Given the description of an element on the screen output the (x, y) to click on. 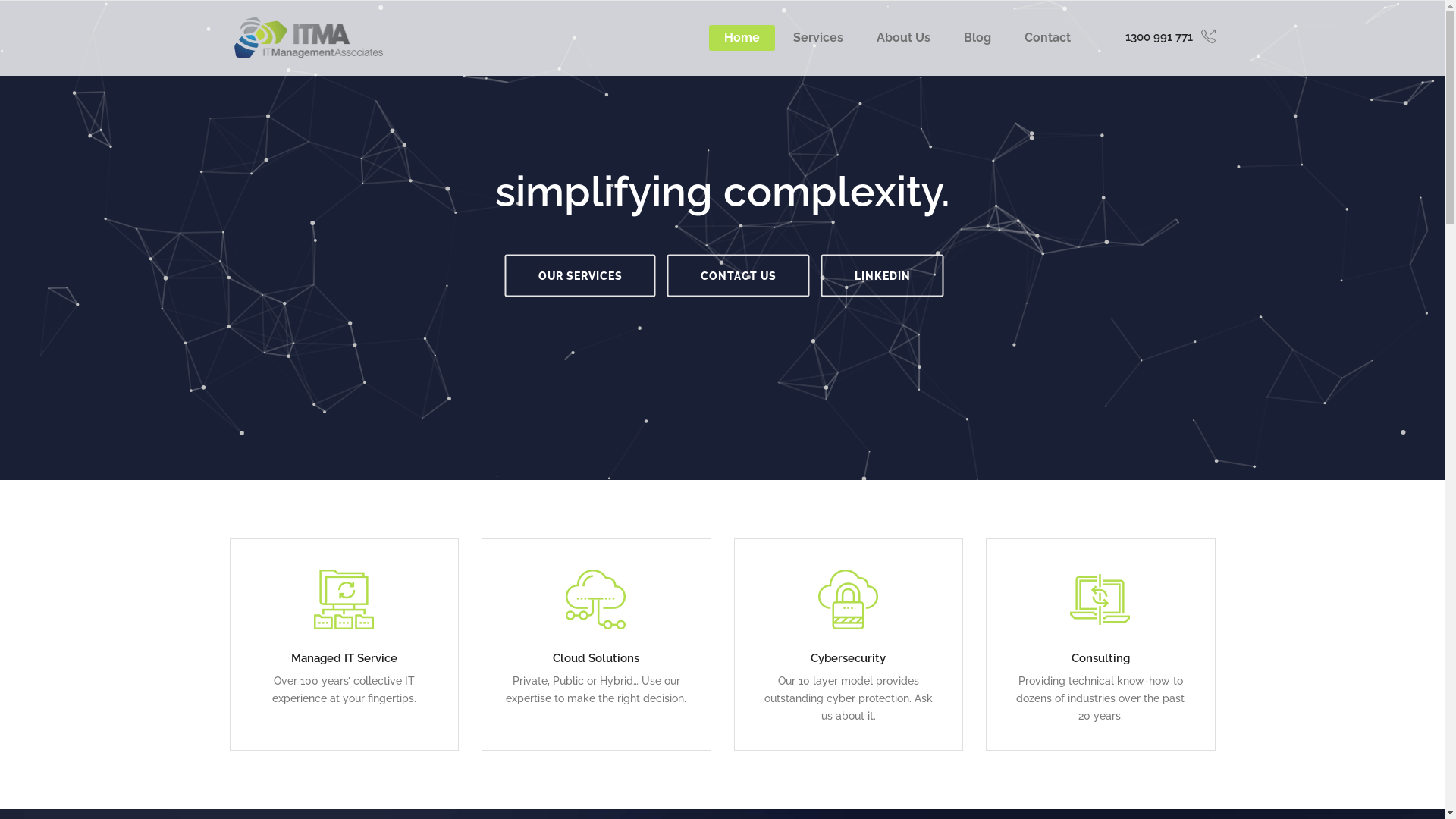
LINKEDIN Element type: text (881, 275)
Brightgauge Dashboard of the Month Element type: text (721, 537)
Unit 5, 28 Belmont Avenue Belmont, WA 6104 Element type: text (256, 555)
YikesDesign.Co Element type: text (822, 787)
Contact Element type: text (1046, 37)
Services Element type: text (818, 37)
Home Element type: text (741, 37)
READ MORE Element type: text (1100, 644)
info@itma.com.au Element type: text (272, 572)
READ MORE Element type: text (847, 644)
Submit Element type: text (1181, 673)
READ MORE Element type: text (596, 644)
CONTACT US Element type: text (738, 275)
1300 991 771 Element type: text (275, 589)
Another Email Scam Hits Perth Real Estate Element type: text (721, 510)
New Branding and Website for ITMA Element type: text (721, 565)
READ MORE Element type: text (343, 644)
1300 991 771 Element type: text (1170, 37)
OUR SERVICES Element type: text (580, 275)
About Us Element type: text (903, 37)
Blog Element type: text (976, 37)
